Given the description of an element on the screen output the (x, y) to click on. 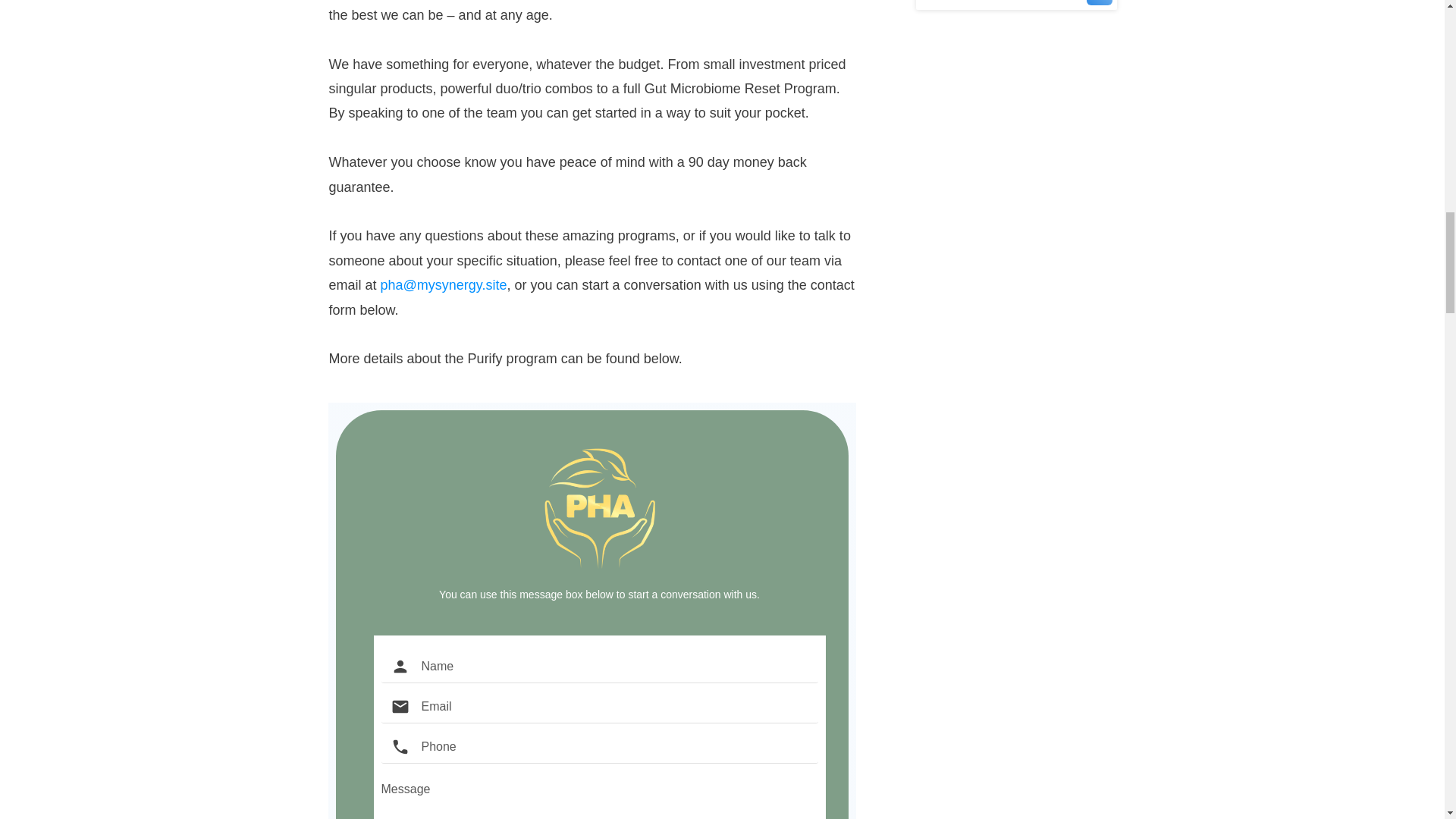
PHA (599, 508)
MORE INFORMATION (1015, 4)
